Given the description of an element on the screen output the (x, y) to click on. 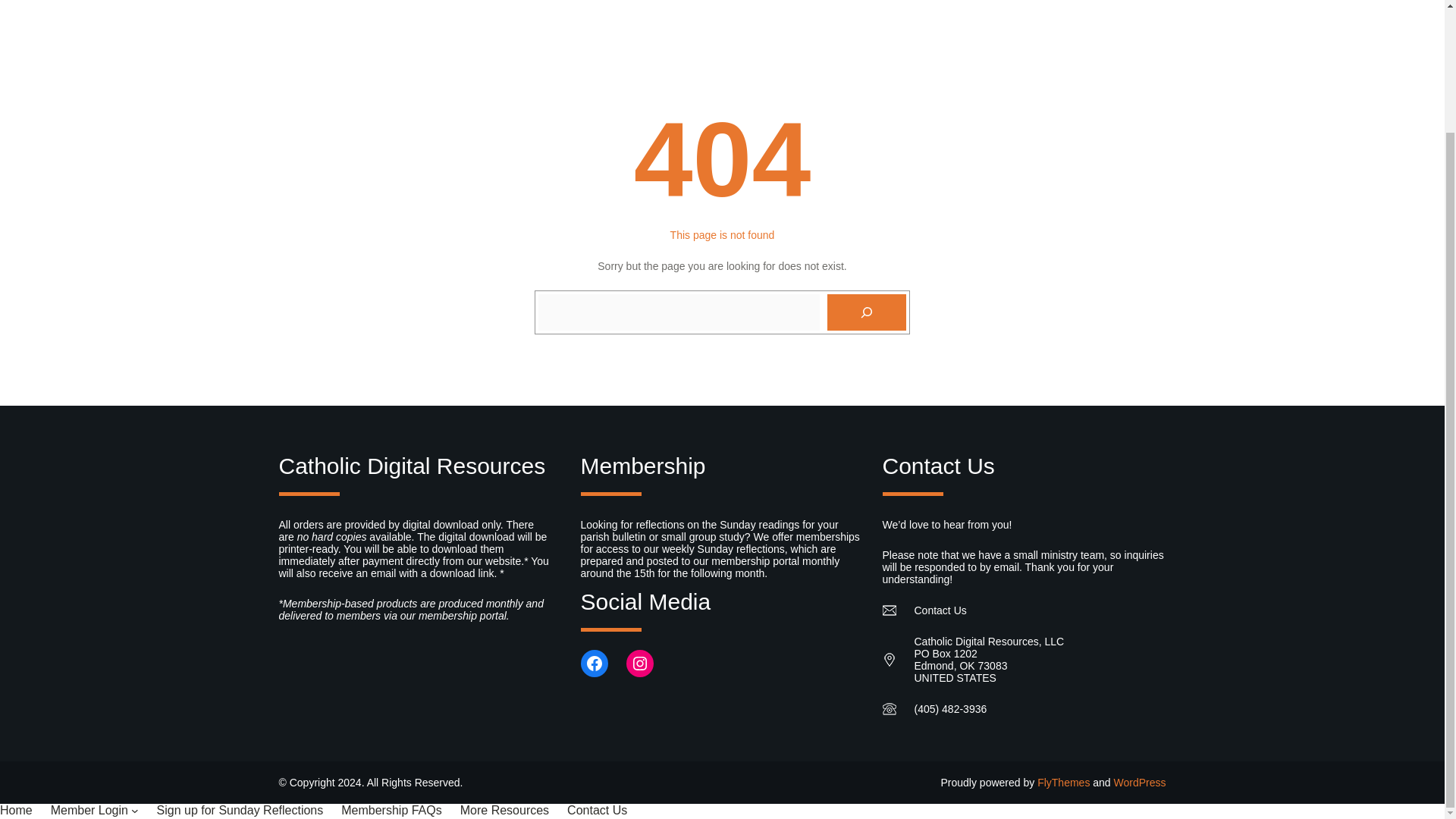
WordPress (1139, 782)
Home (16, 810)
Member Login (89, 810)
Contact Us (940, 610)
Sign up for Sunday Reflections (240, 810)
FlyThemes (1062, 782)
More Resources (504, 810)
Facebook (594, 663)
Contact Us (597, 810)
Membership FAQs (390, 810)
Instagram (639, 663)
